Given the description of an element on the screen output the (x, y) to click on. 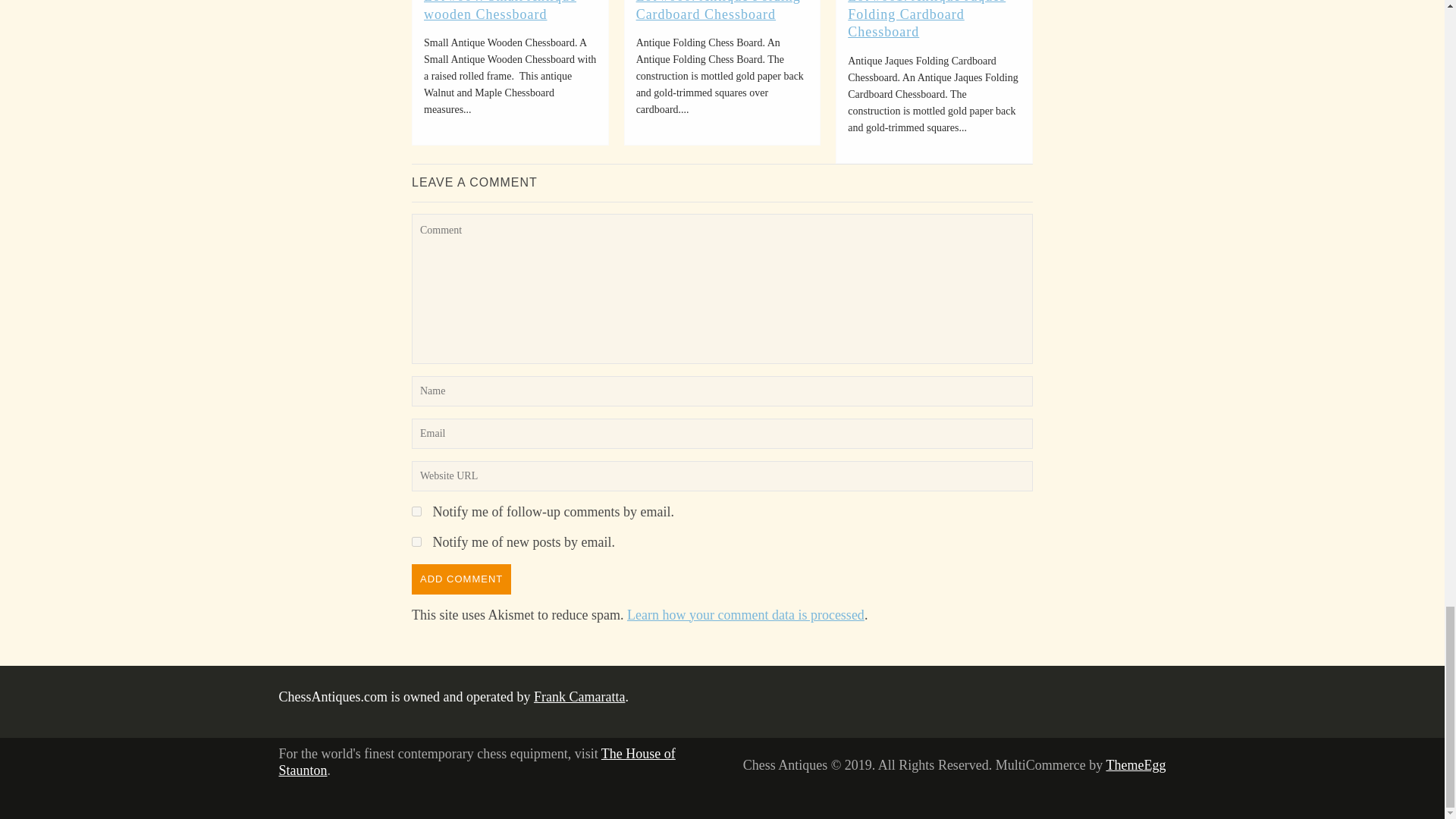
subscribe (417, 511)
subscribe (417, 542)
Add Comment (461, 579)
